Given the description of an element on the screen output the (x, y) to click on. 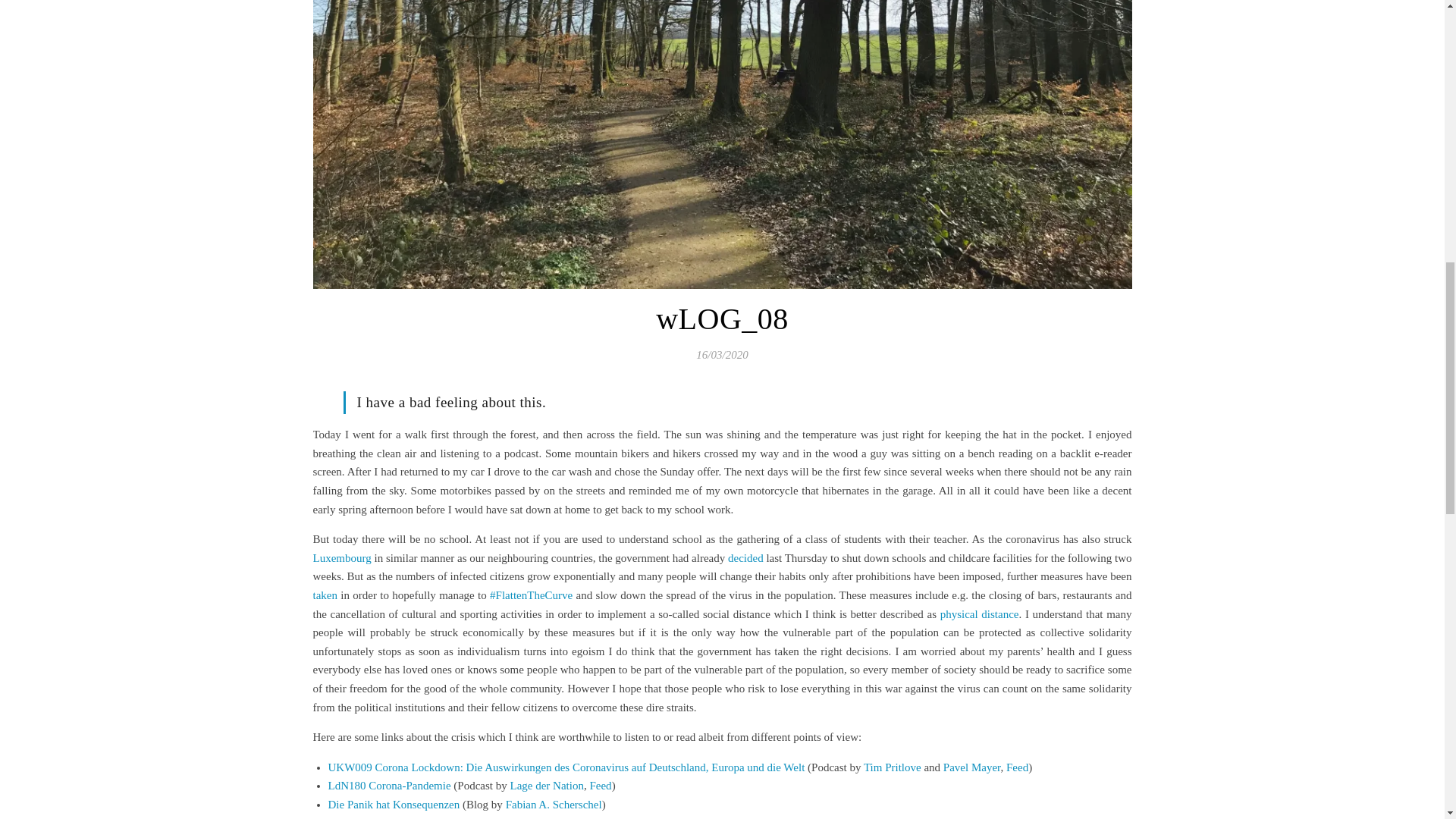
taken (324, 594)
Feed (1016, 767)
Die Panik hat Konsequenzen (393, 804)
Feed (600, 785)
Tim Pritlove (892, 767)
LdN180 Corona-Pandemie (388, 785)
manager (646, 818)
Lage der Nation (546, 785)
football (607, 818)
Fabian A. Scherschel (553, 804)
Luxembourg (342, 558)
decided (745, 558)
physical distance (979, 613)
Pavel Mayer (972, 767)
